Given the description of an element on the screen output the (x, y) to click on. 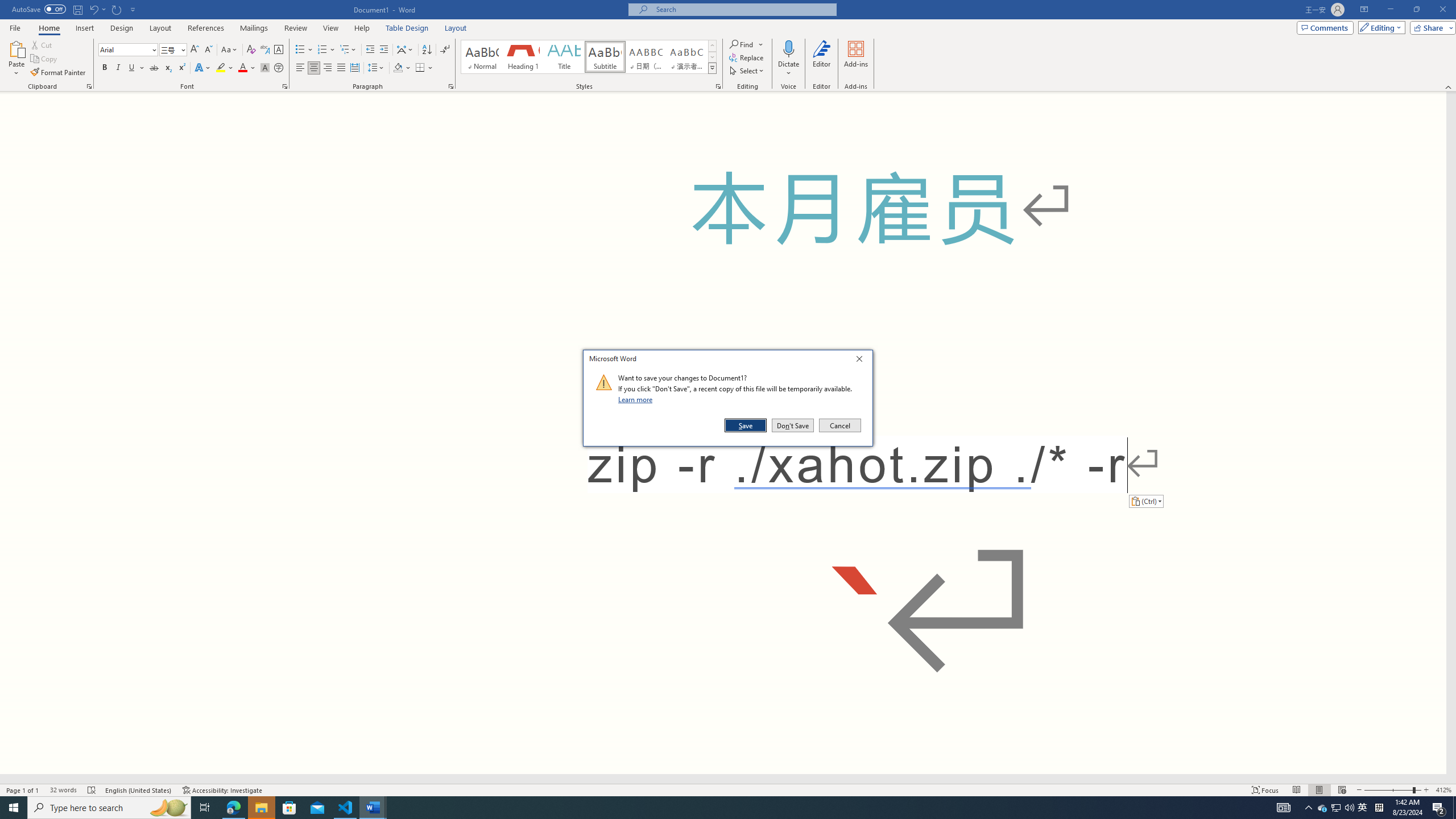
Shading (402, 67)
Zoom In (1426, 790)
Paragraph... (450, 85)
Character Shading (264, 67)
Close (862, 360)
Read Mode (1296, 790)
Repeat Paste (117, 9)
Focus  (1265, 790)
Save (746, 425)
Collapse the Ribbon (1448, 86)
Show/Hide Editing Marks (444, 49)
Bullets (304, 49)
Text Highlight Color Yellow (220, 67)
Subscript (167, 67)
